Given the description of an element on the screen output the (x, y) to click on. 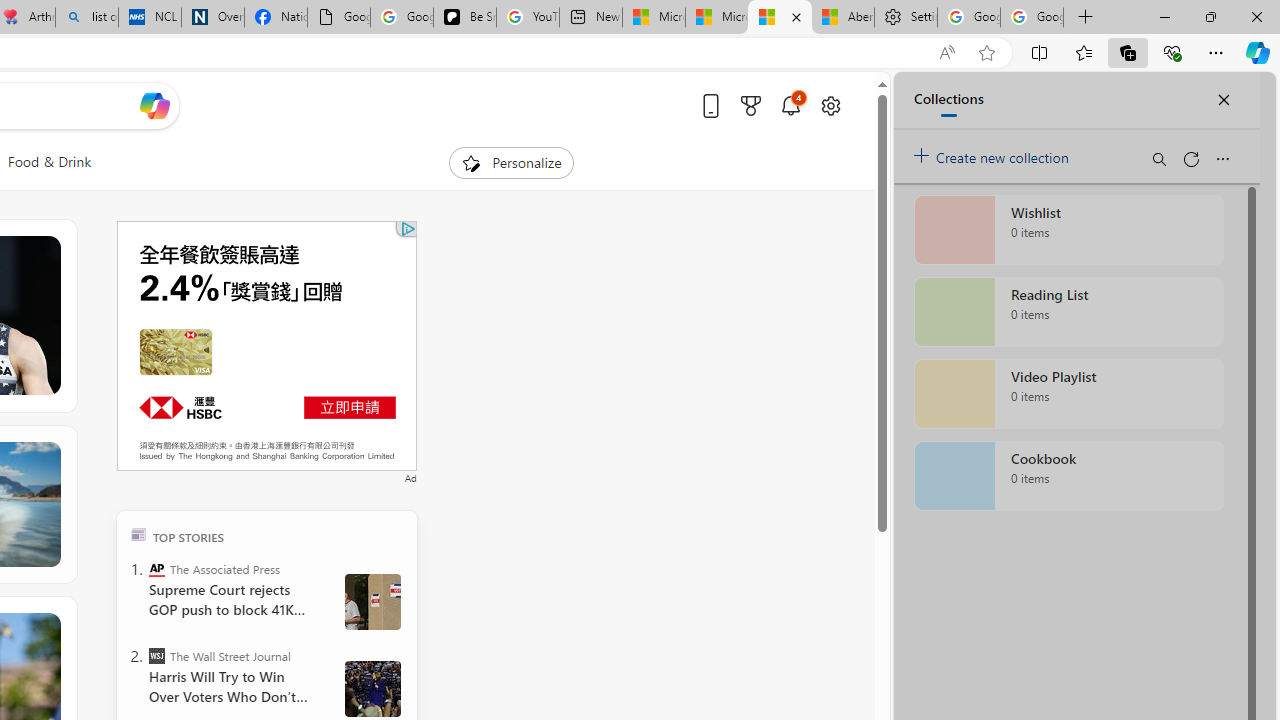
Be Smart | creating Science videos | Patreon (464, 17)
Class: qc-adchoices-link top-right  (406, 228)
